Given the description of an element on the screen output the (x, y) to click on. 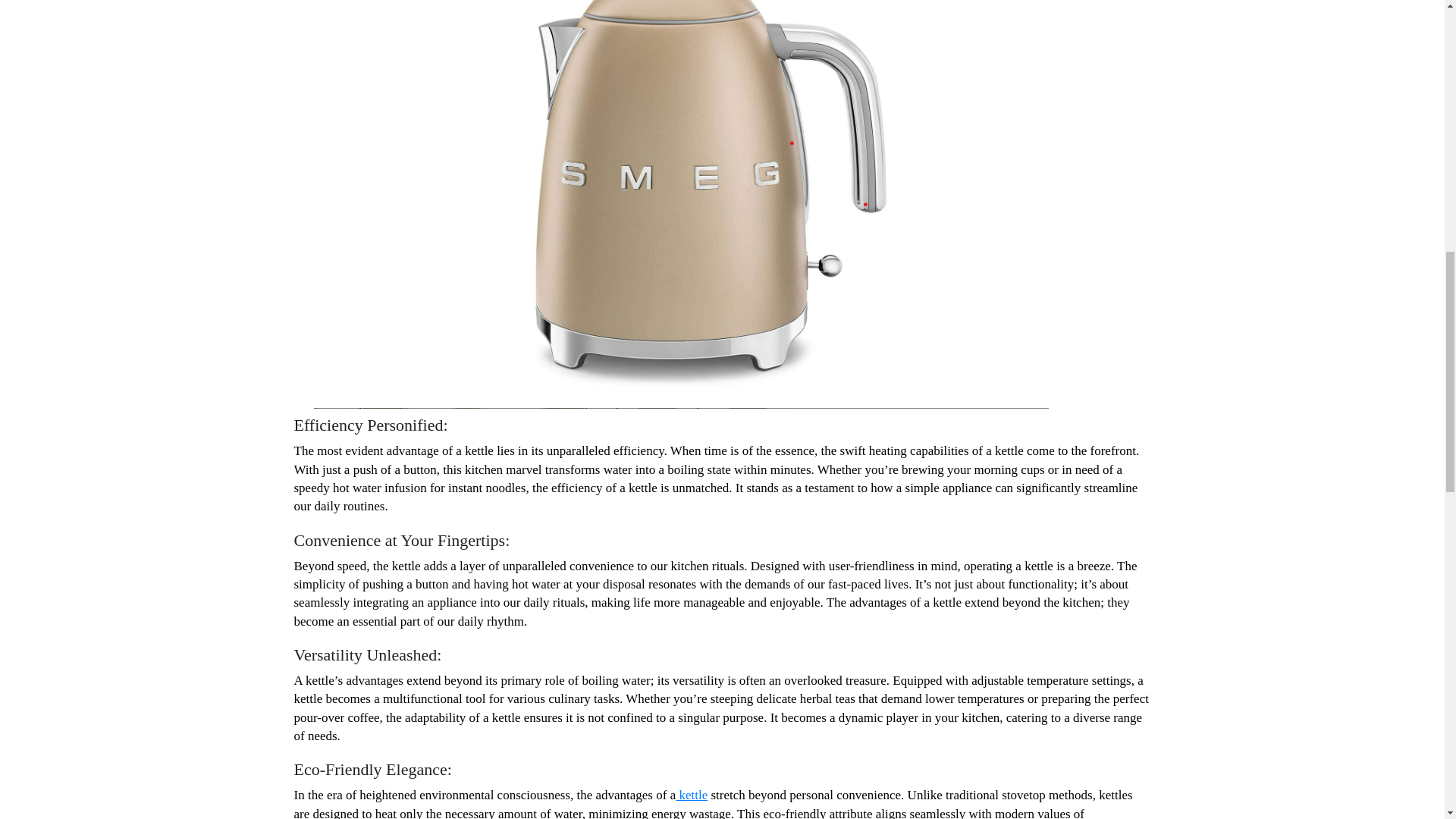
kettle (691, 794)
